Given the description of an element on the screen output the (x, y) to click on. 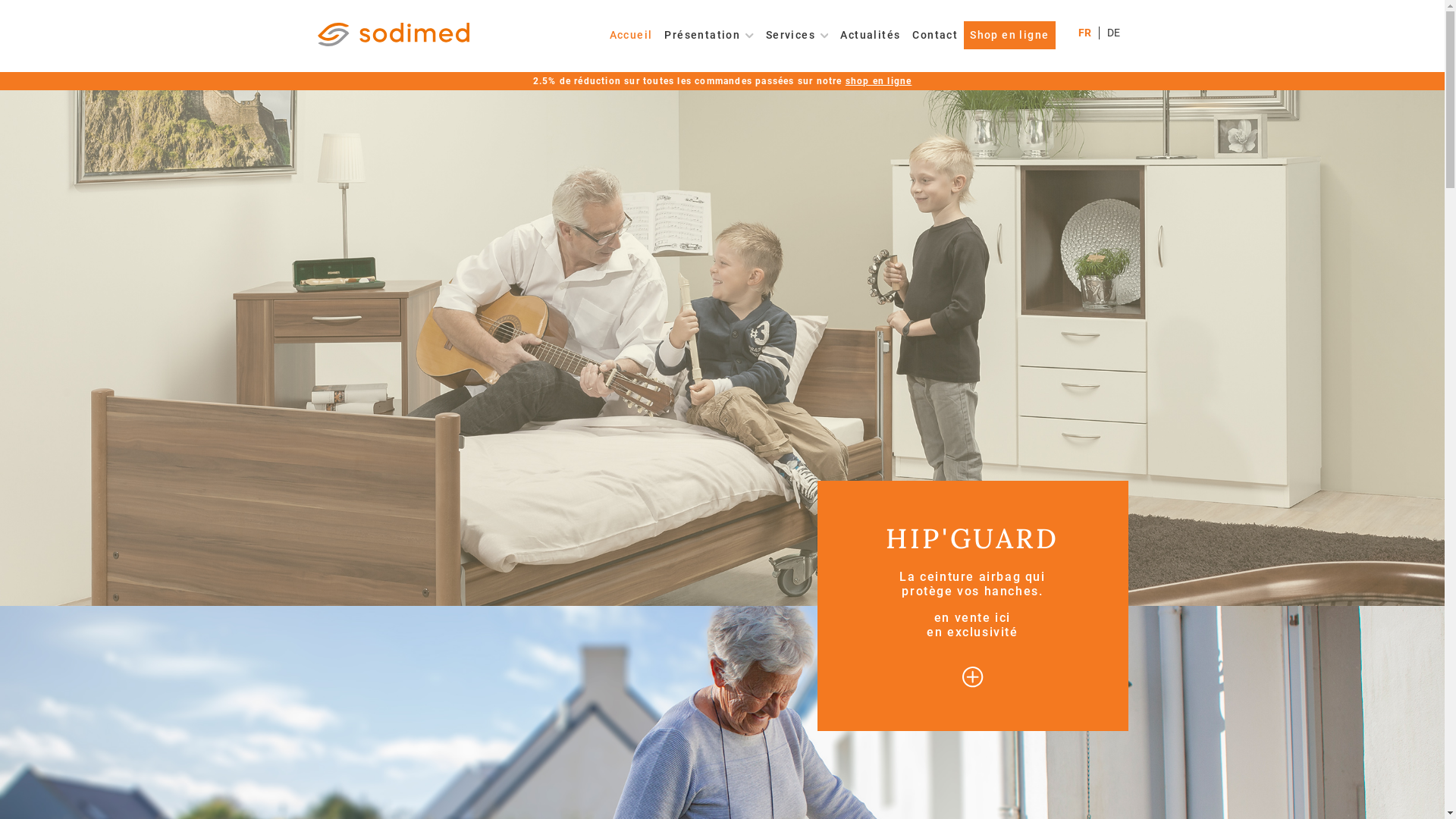
FR Element type: text (1084, 32)
Contact Element type: text (934, 35)
Shop en ligne Element type: text (1008, 35)
Accueil Element type: text (630, 35)
DE Element type: text (1112, 32)
shop en ligne Element type: text (878, 80)
Services Element type: text (796, 35)
